Given the description of an element on the screen output the (x, y) to click on. 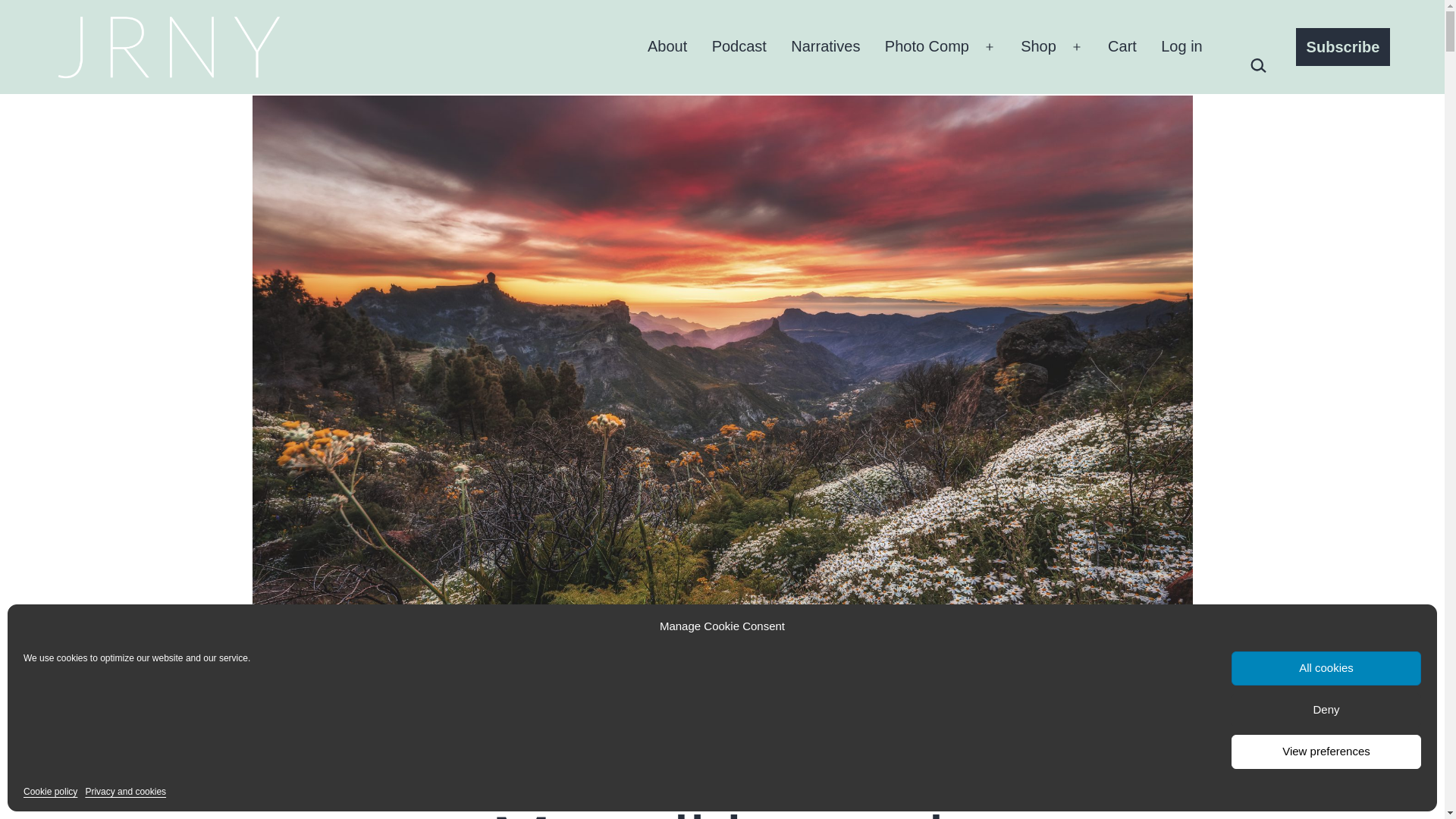
About (667, 46)
Privacy and cookies (124, 791)
All cookies (1326, 668)
Podcast (738, 46)
Shop (1037, 46)
Cookie policy (50, 791)
Photo Comp (927, 46)
Subscribe (1342, 46)
View preferences (1326, 751)
Deny (1326, 709)
Cart (1122, 46)
Log in (1181, 46)
Narratives (825, 46)
